Given the description of an element on the screen output the (x, y) to click on. 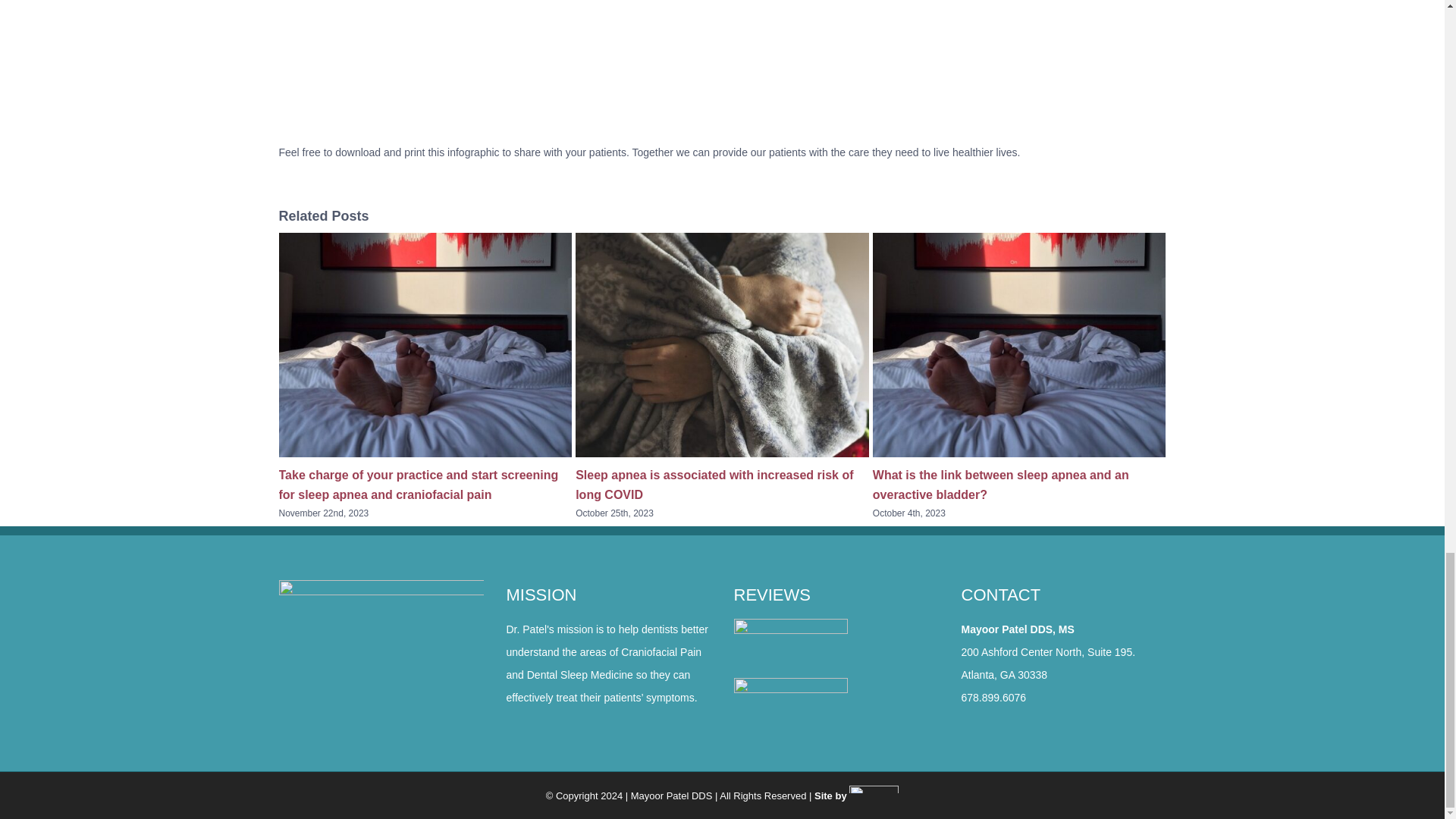
Sleep apnea is associated with increased risk of long COVID (714, 484)
Sleep apnea is associated with increased risk of long COVID (714, 484)
